Given the description of an element on the screen output the (x, y) to click on. 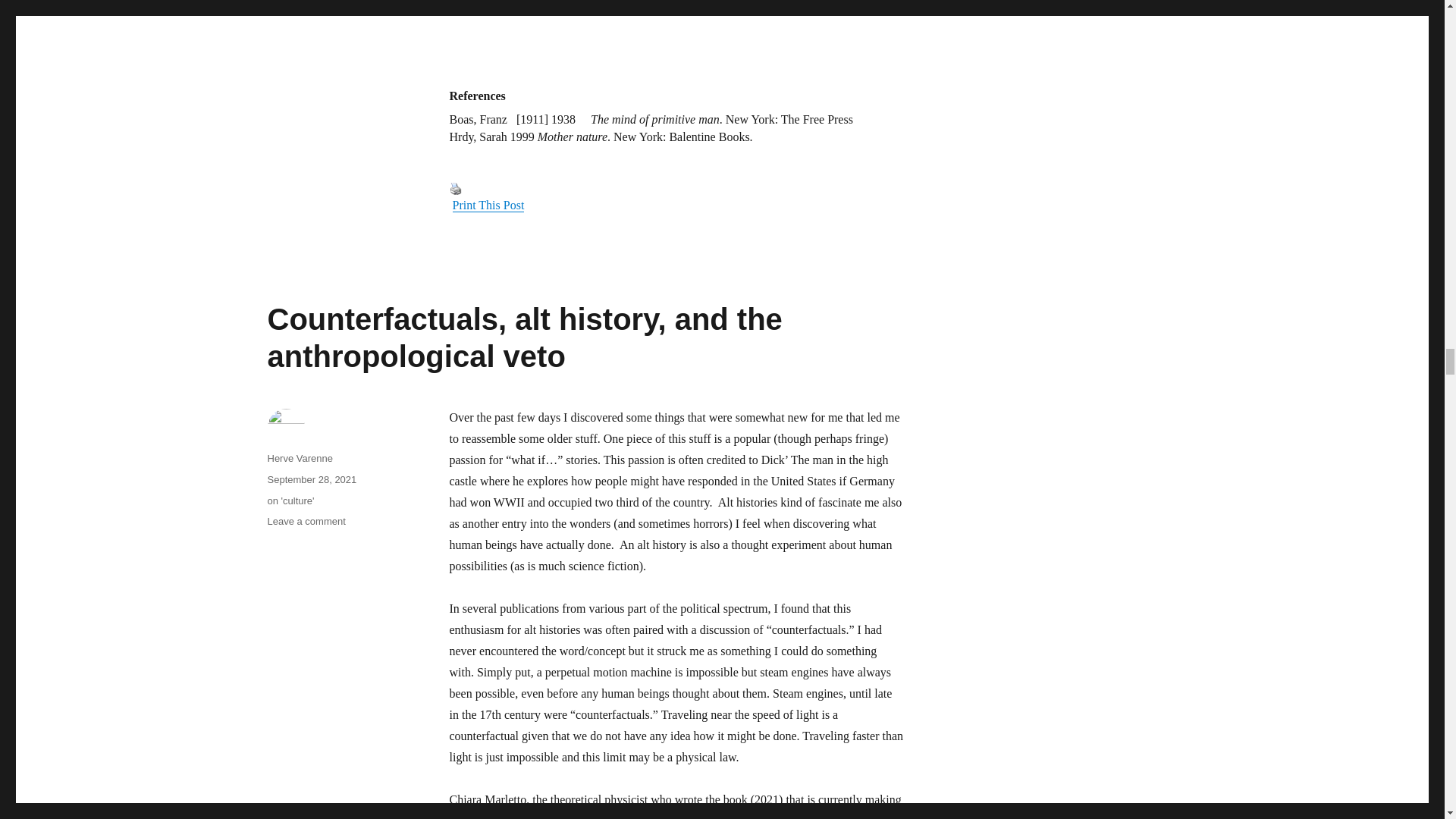
Tres sangere (676, 33)
Print This Post (487, 205)
Print This Post (487, 205)
September 28, 2021 (311, 479)
Herve Varenne (298, 458)
Print This Post (454, 188)
Counterfactuals, alt history, and the anthropological veto (523, 337)
Print This Post (676, 196)
on 'culture' (290, 500)
